Given the description of an element on the screen output the (x, y) to click on. 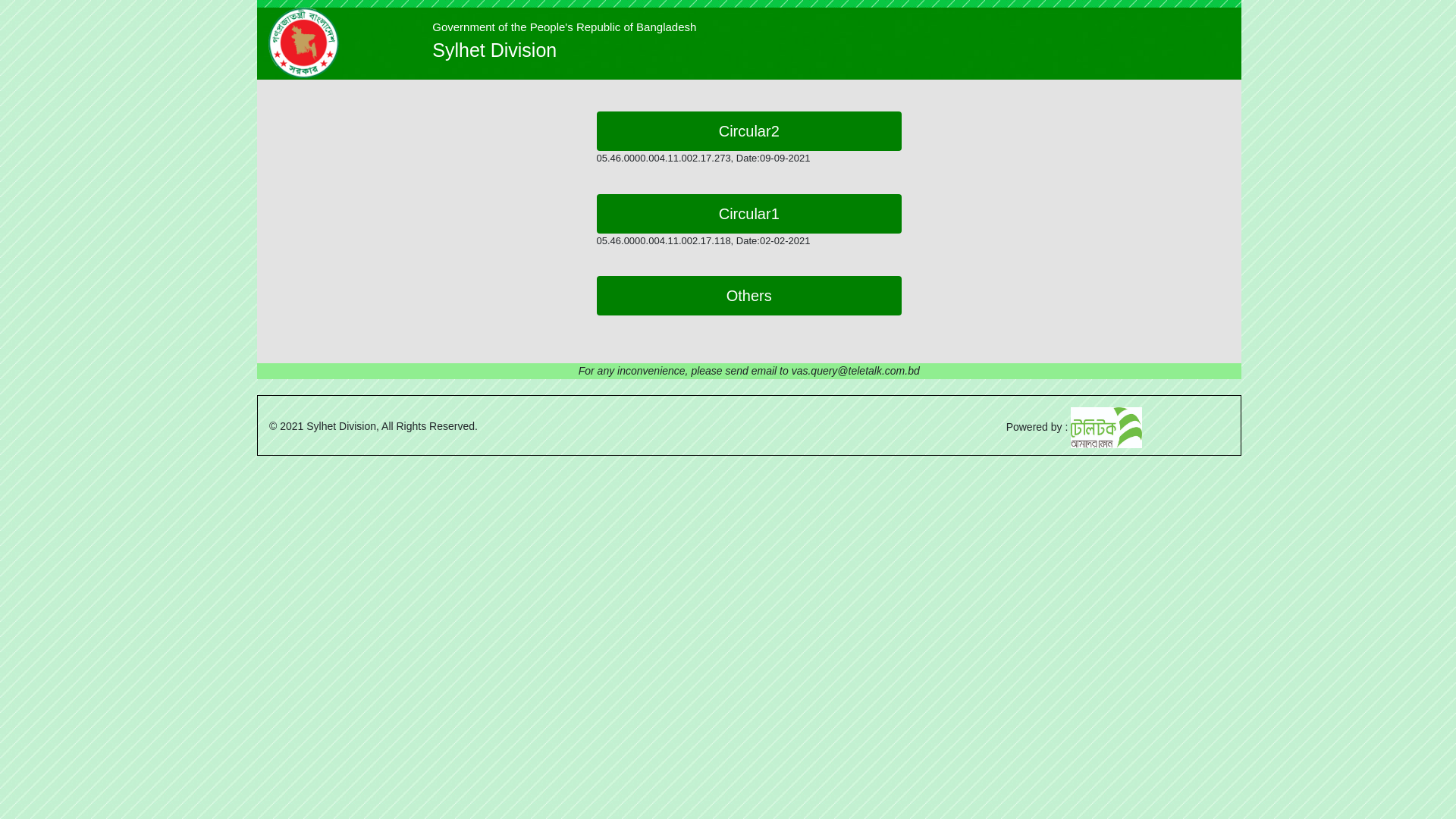
Circular2 Element type: text (748, 130)
Others Element type: text (748, 295)
Circular1 Element type: text (748, 213)
